Given the description of an element on the screen output the (x, y) to click on. 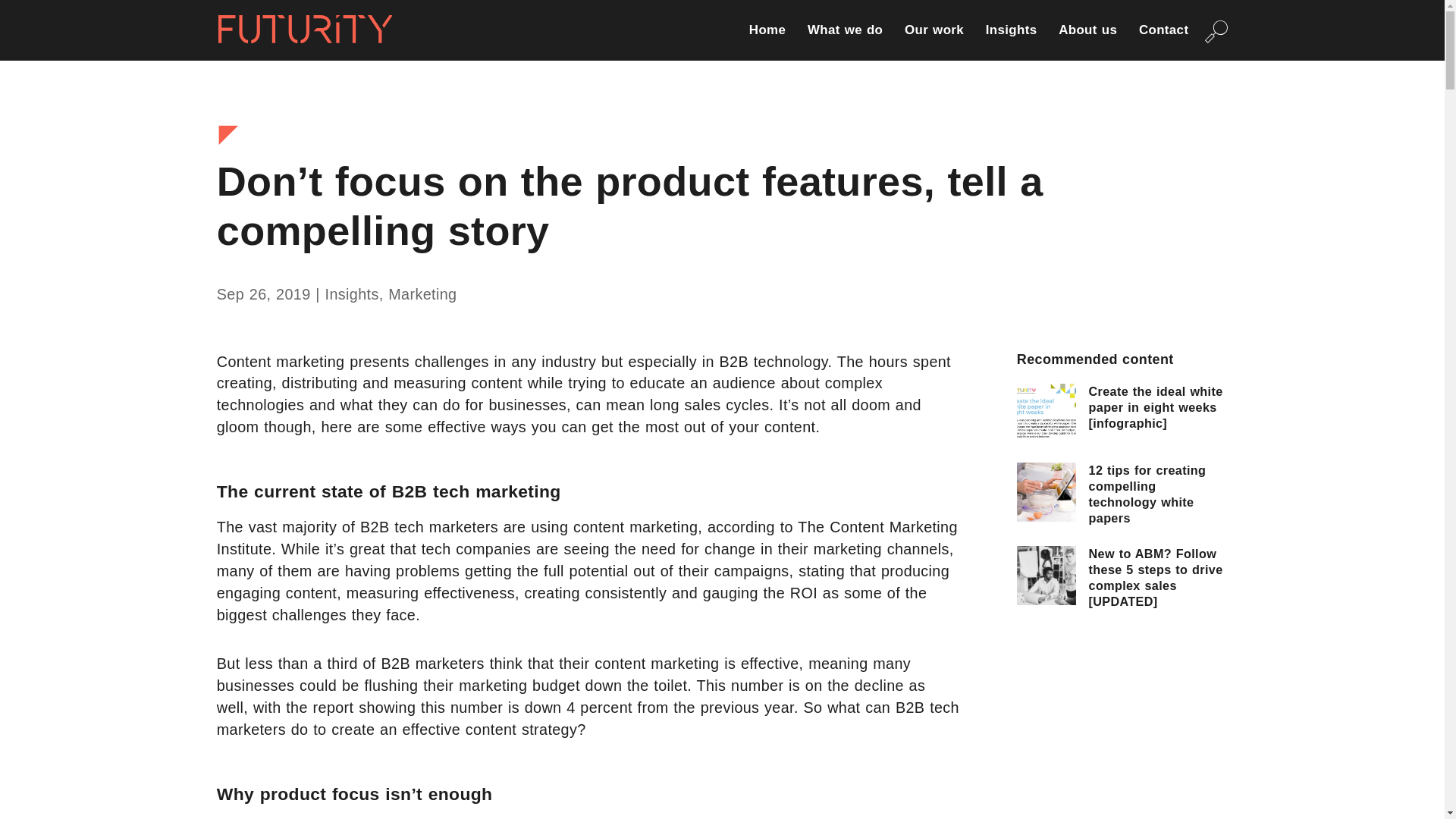
What we do (845, 42)
Insights (1010, 42)
Our work (933, 42)
Insights (351, 293)
Contact (1163, 42)
Home (767, 42)
12 tips for creating compelling technology white papers (1148, 493)
Marketing (422, 293)
About us (1087, 42)
